Given the description of an element on the screen output the (x, y) to click on. 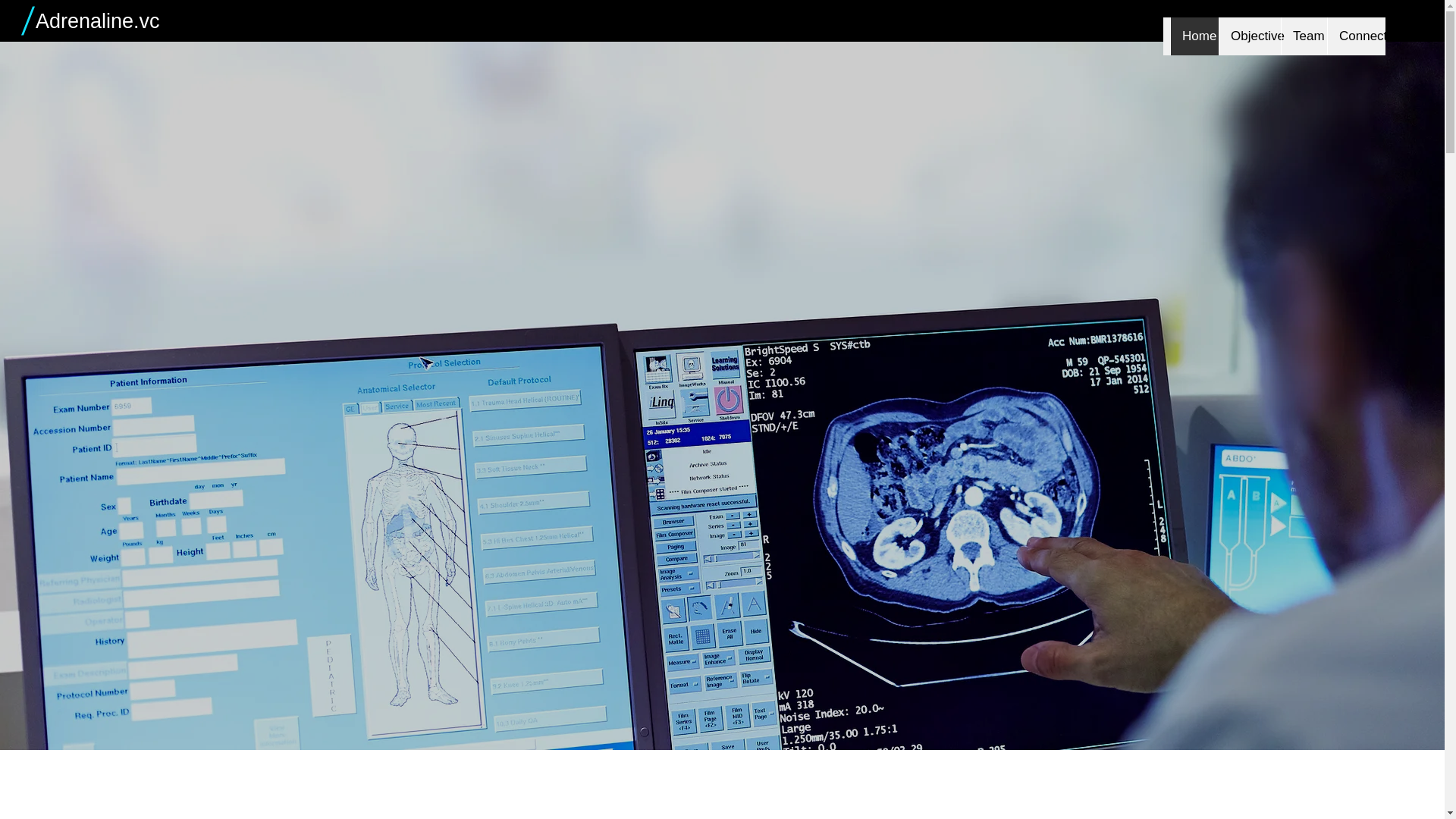
Home (1194, 36)
Objective (1249, 36)
Connect (1356, 36)
Adrenaline.vc (97, 20)
Team (1303, 36)
